Given the description of an element on the screen output the (x, y) to click on. 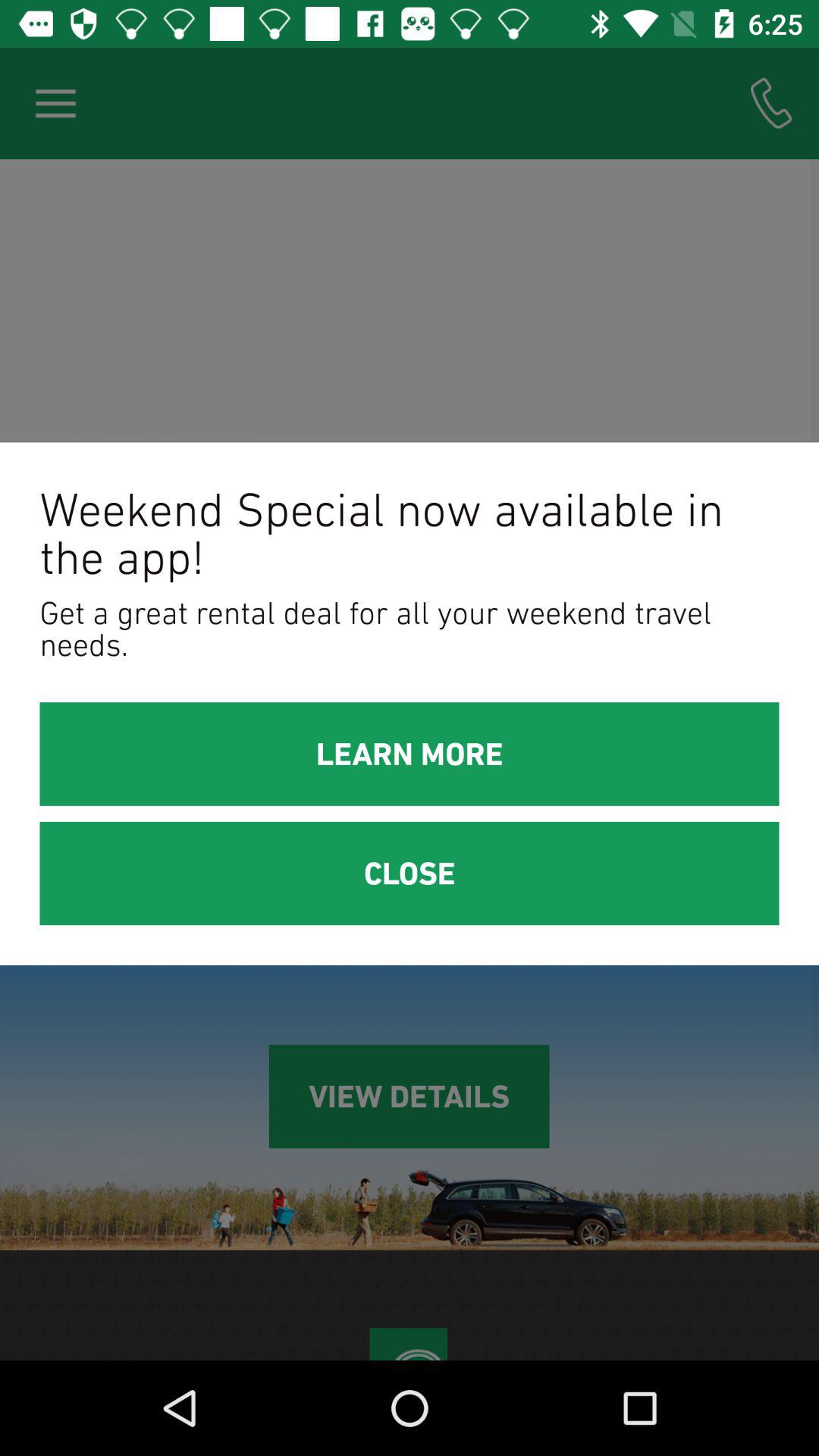
press the close (409, 873)
